Given the description of an element on the screen output the (x, y) to click on. 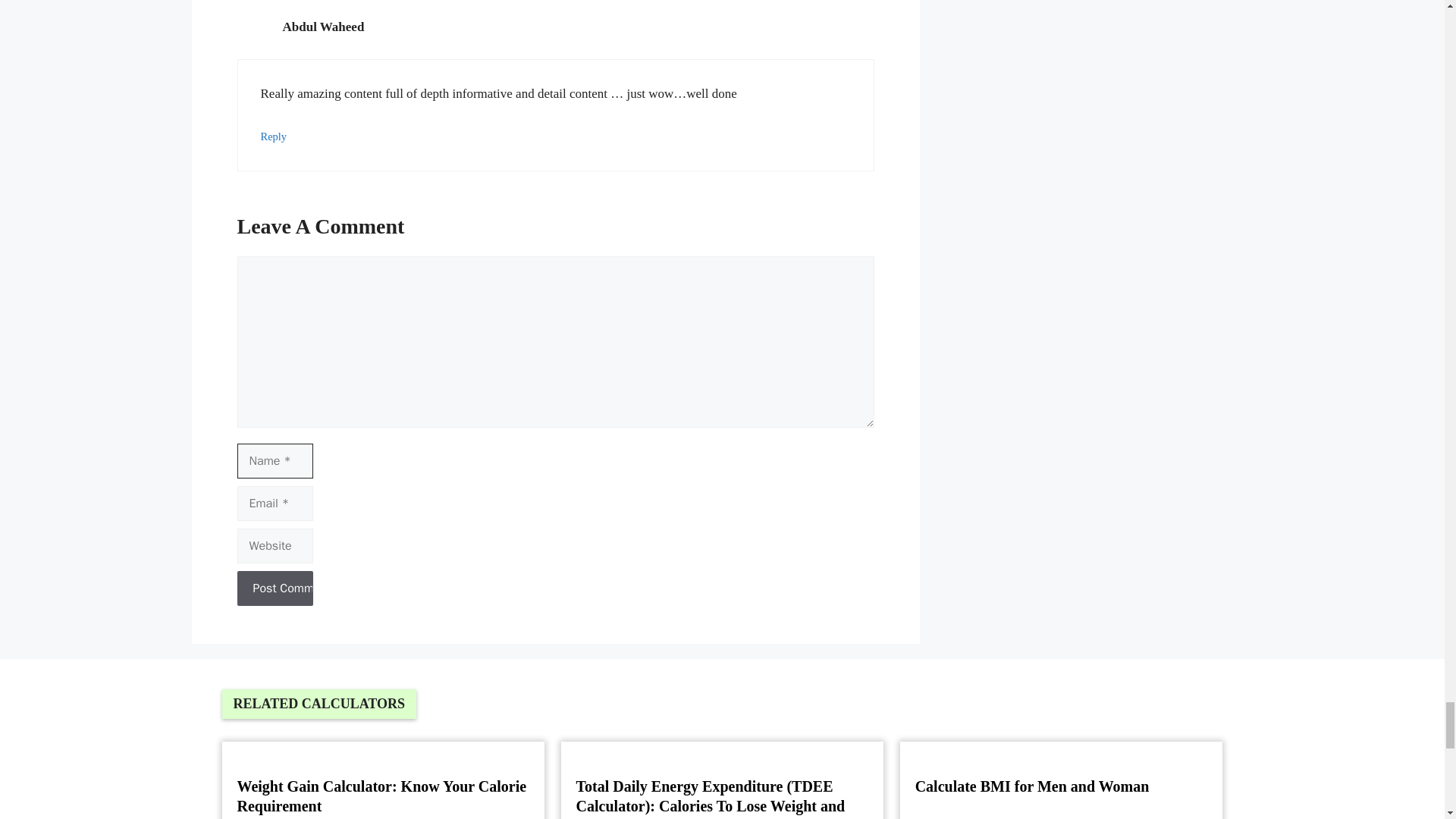
Post Comment (274, 588)
